Given the description of an element on the screen output the (x, y) to click on. 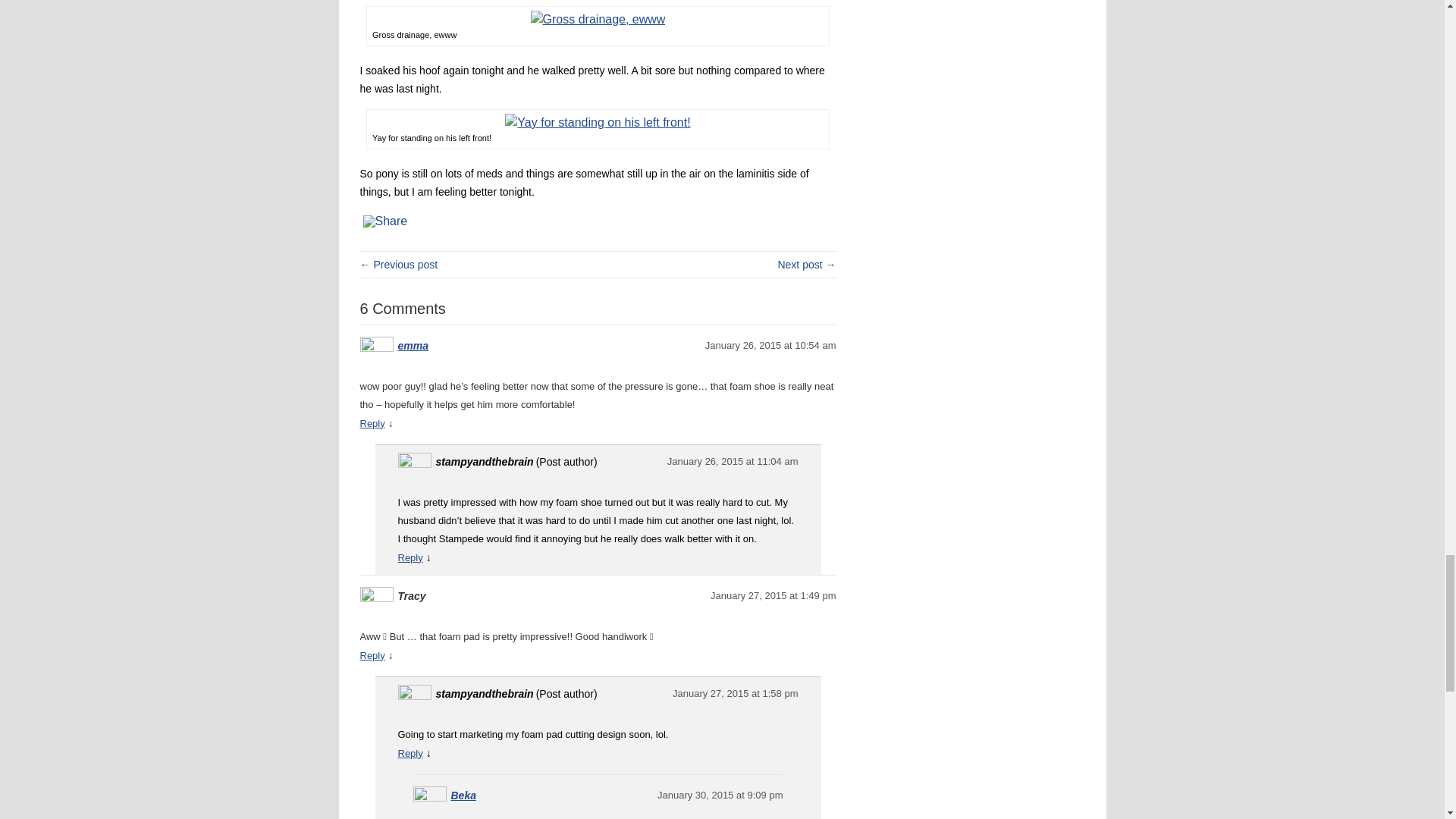
Reply (409, 753)
Reply (409, 557)
Beka (462, 795)
Reply (371, 423)
emma (412, 345)
That's a New One (398, 264)
The Good Pony (806, 264)
Reply (371, 655)
